Given the description of an element on the screen output the (x, y) to click on. 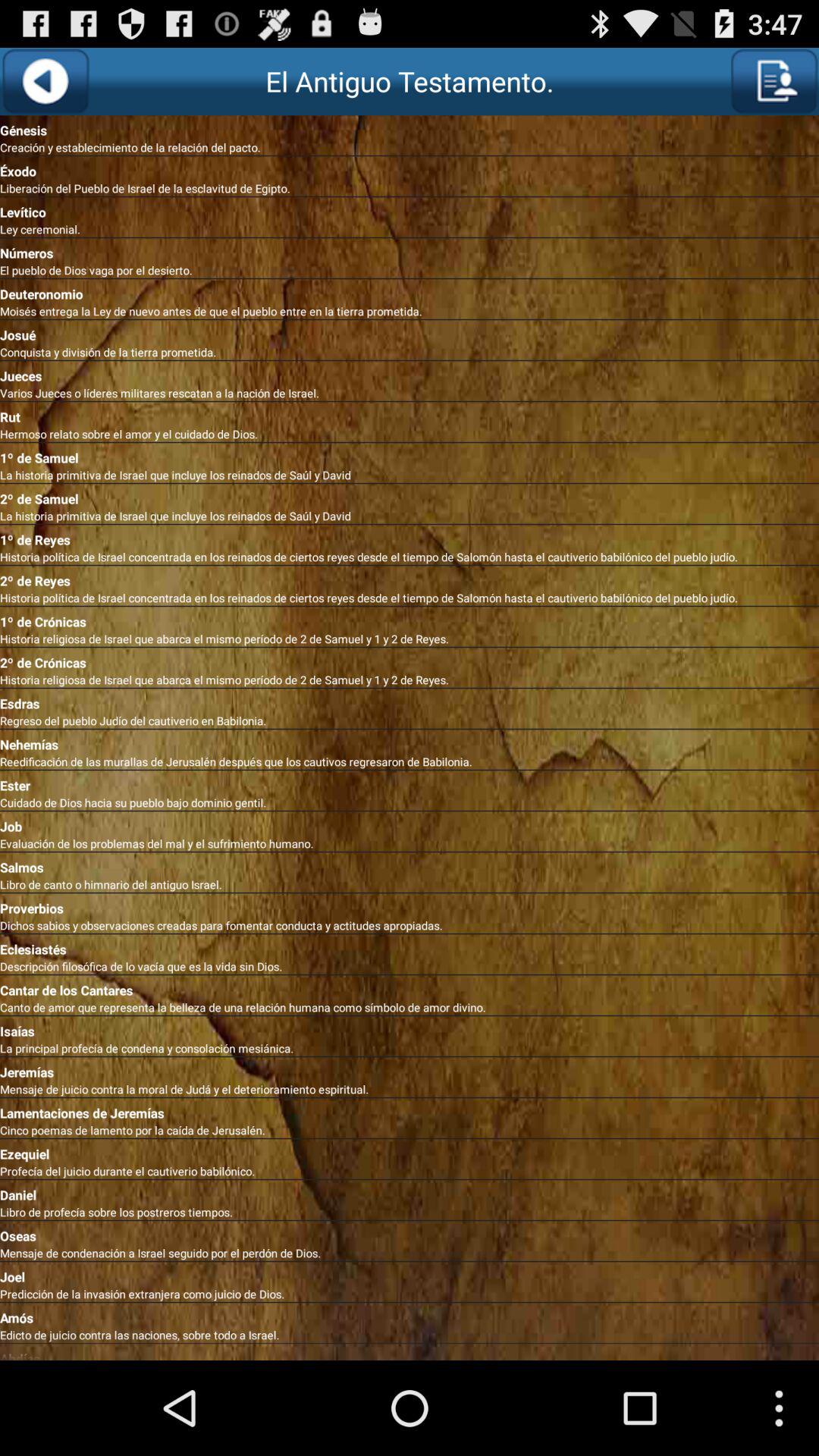
turn off app to the left of el antiguo testamento. item (45, 81)
